Given the description of an element on the screen output the (x, y) to click on. 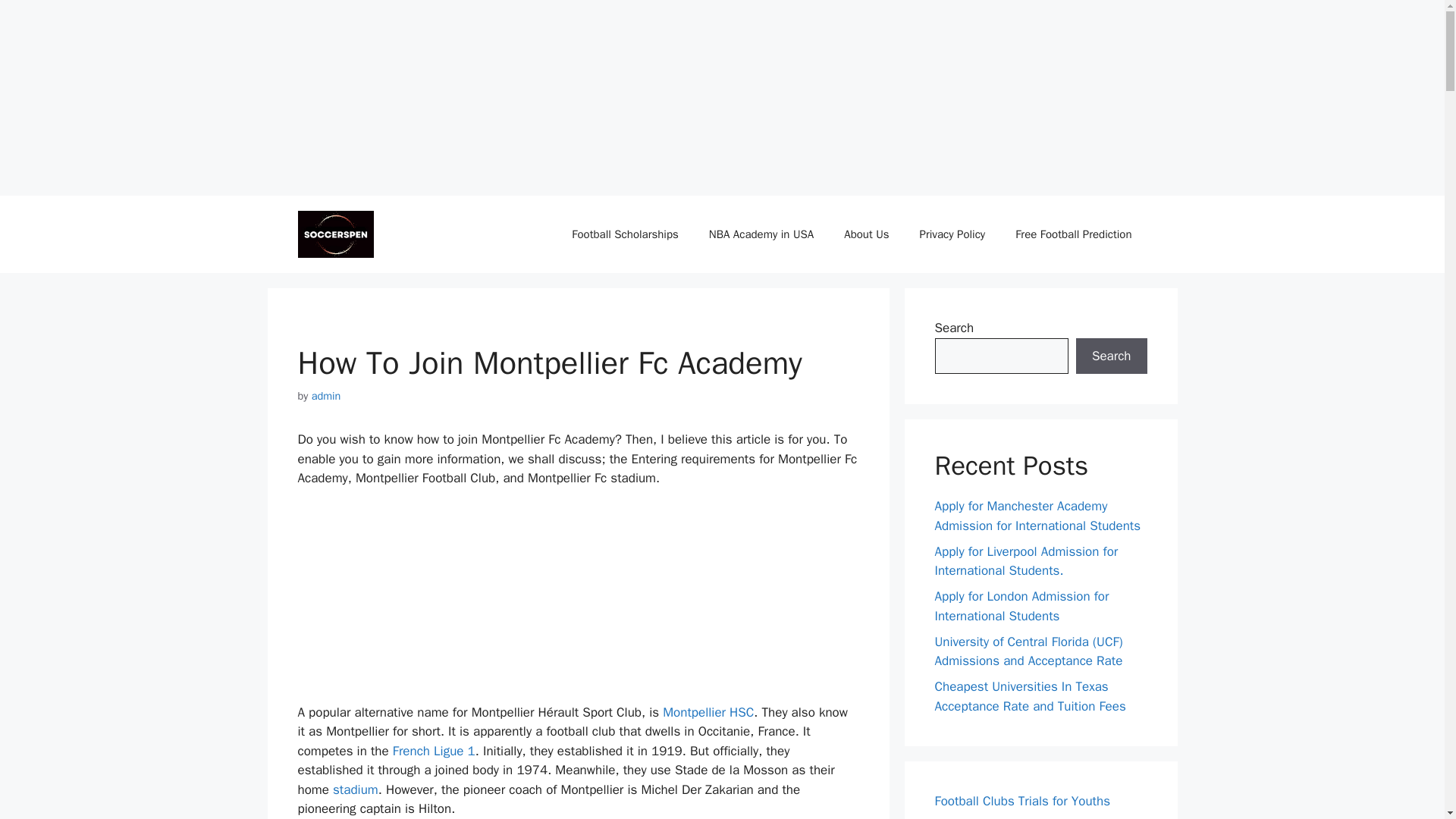
Privacy Policy (952, 234)
Football Scholarships (624, 234)
Advertisement (410, 601)
View all posts by admin (325, 395)
French Ligue 1 (434, 750)
About Us (866, 234)
NBA Academy in USA (761, 234)
Free Football Prediction (1073, 234)
Montpellier HSC (708, 712)
stadium (355, 789)
admin (325, 395)
Advertisement (113, 94)
